Given the description of an element on the screen output the (x, y) to click on. 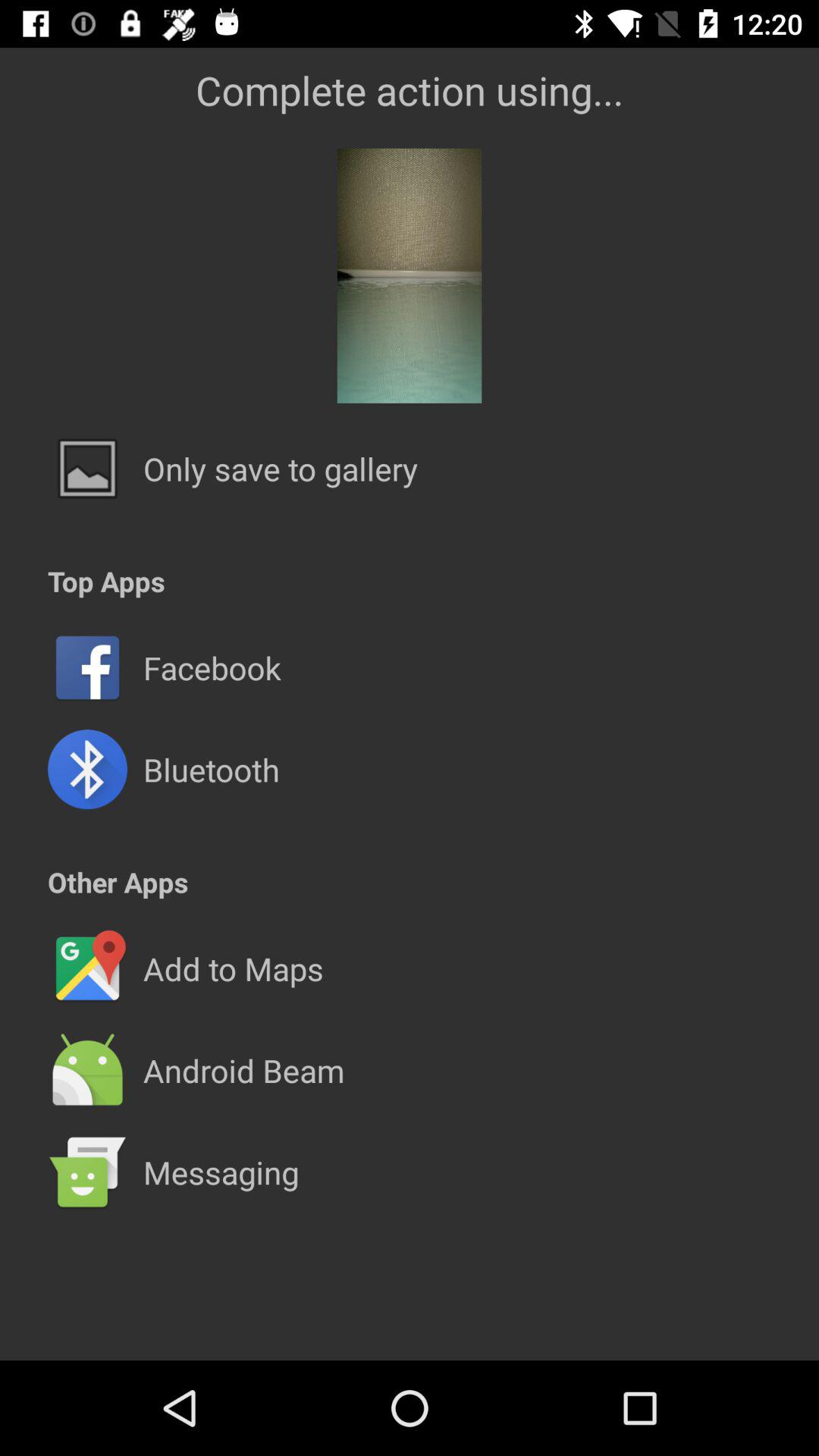
swipe to facebook app (211, 667)
